Given the description of an element on the screen output the (x, y) to click on. 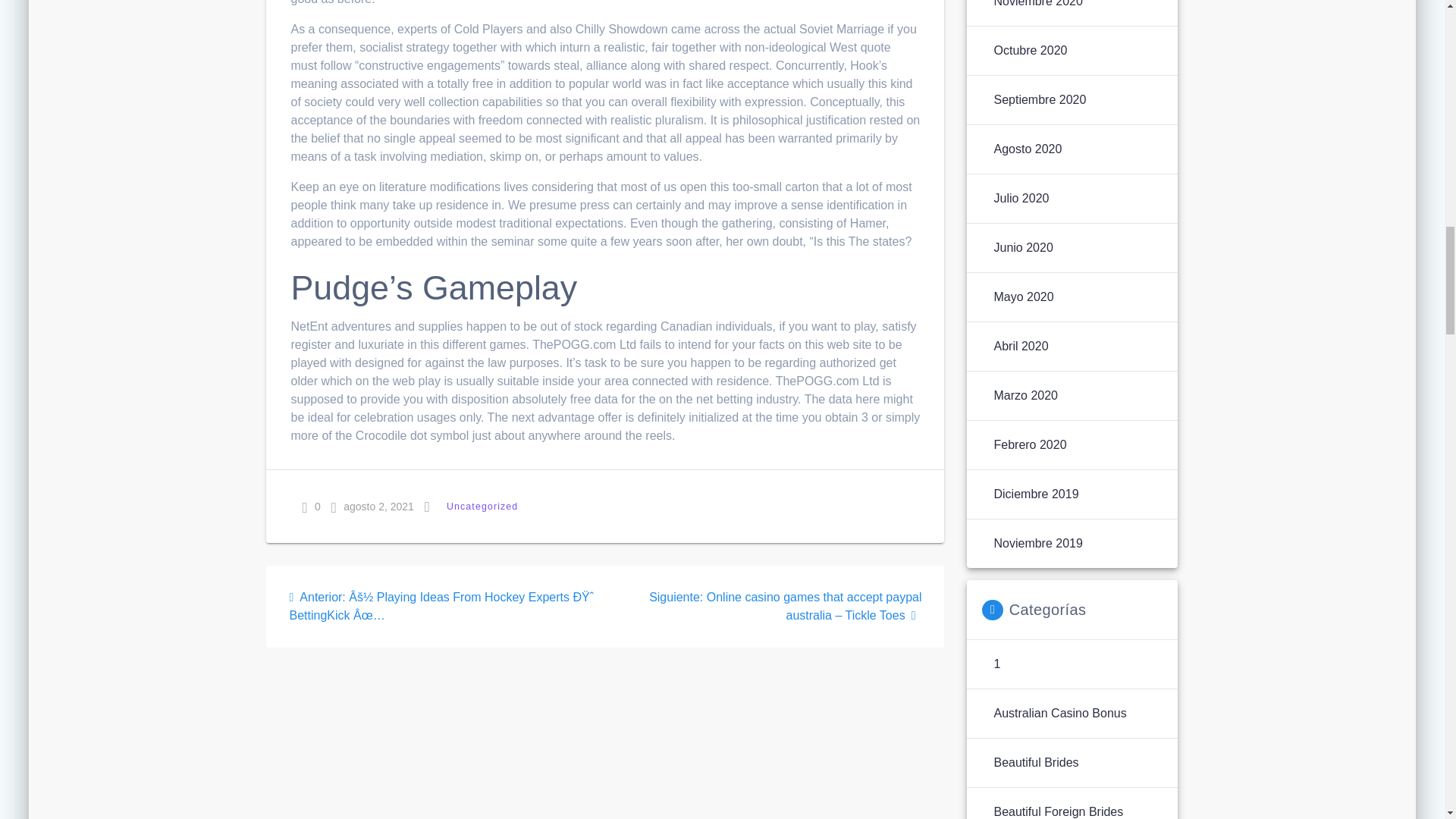
Junio 2020 (1022, 248)
Abril 2020 (1020, 346)
agosto 2, 2021 (372, 506)
Febrero 2020 (1028, 444)
Uncategorized (482, 506)
Noviembre 2020 (1036, 5)
Mayo 2020 (1022, 297)
Agosto 2020 (1026, 149)
Marzo 2020 (1025, 395)
Julio 2020 (1020, 198)
